Given the description of an element on the screen output the (x, y) to click on. 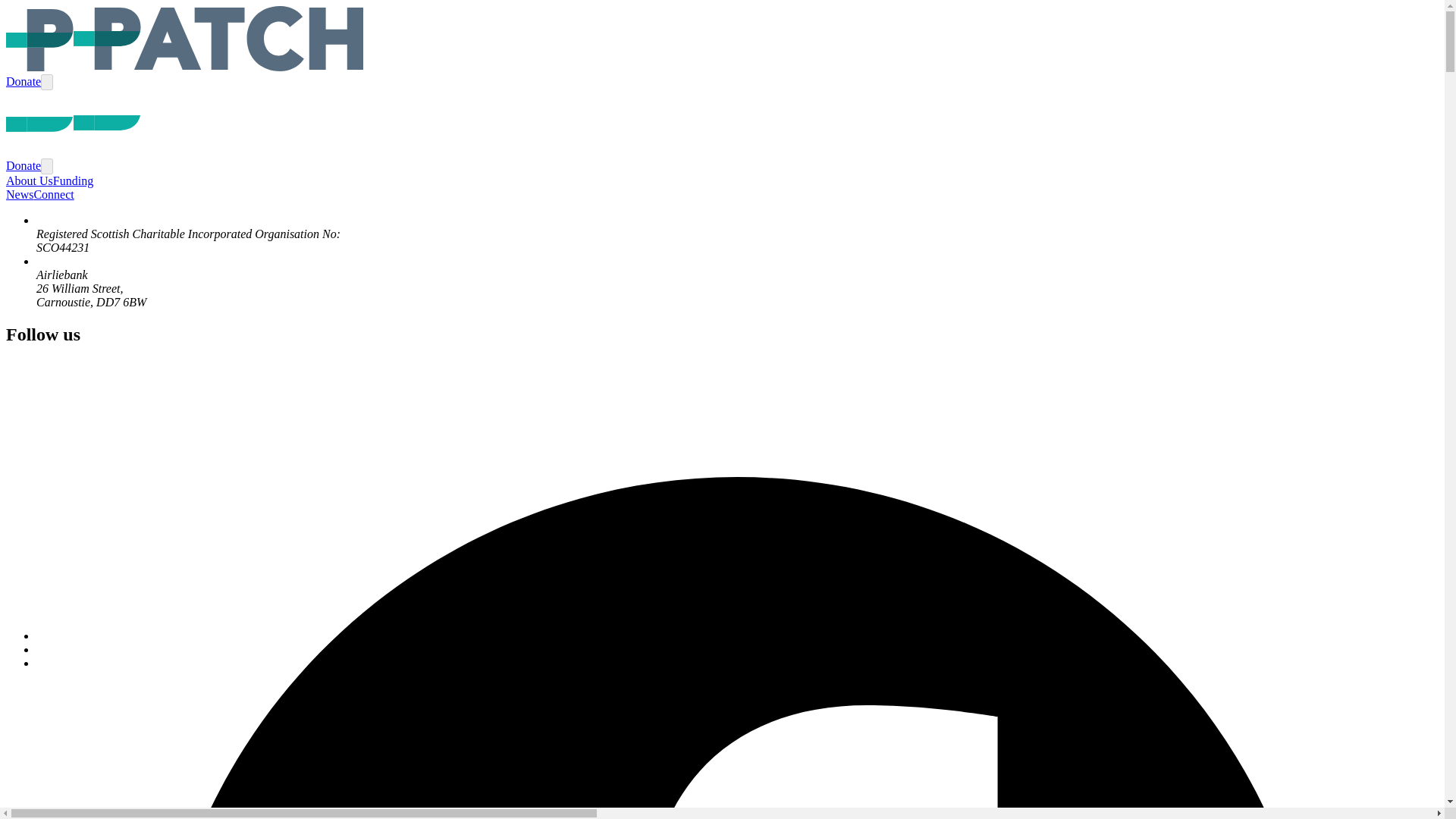
Funding (72, 180)
Connect (53, 194)
Donate (22, 81)
About Us (28, 180)
Donate (22, 164)
News (19, 194)
